Given the description of an element on the screen output the (x, y) to click on. 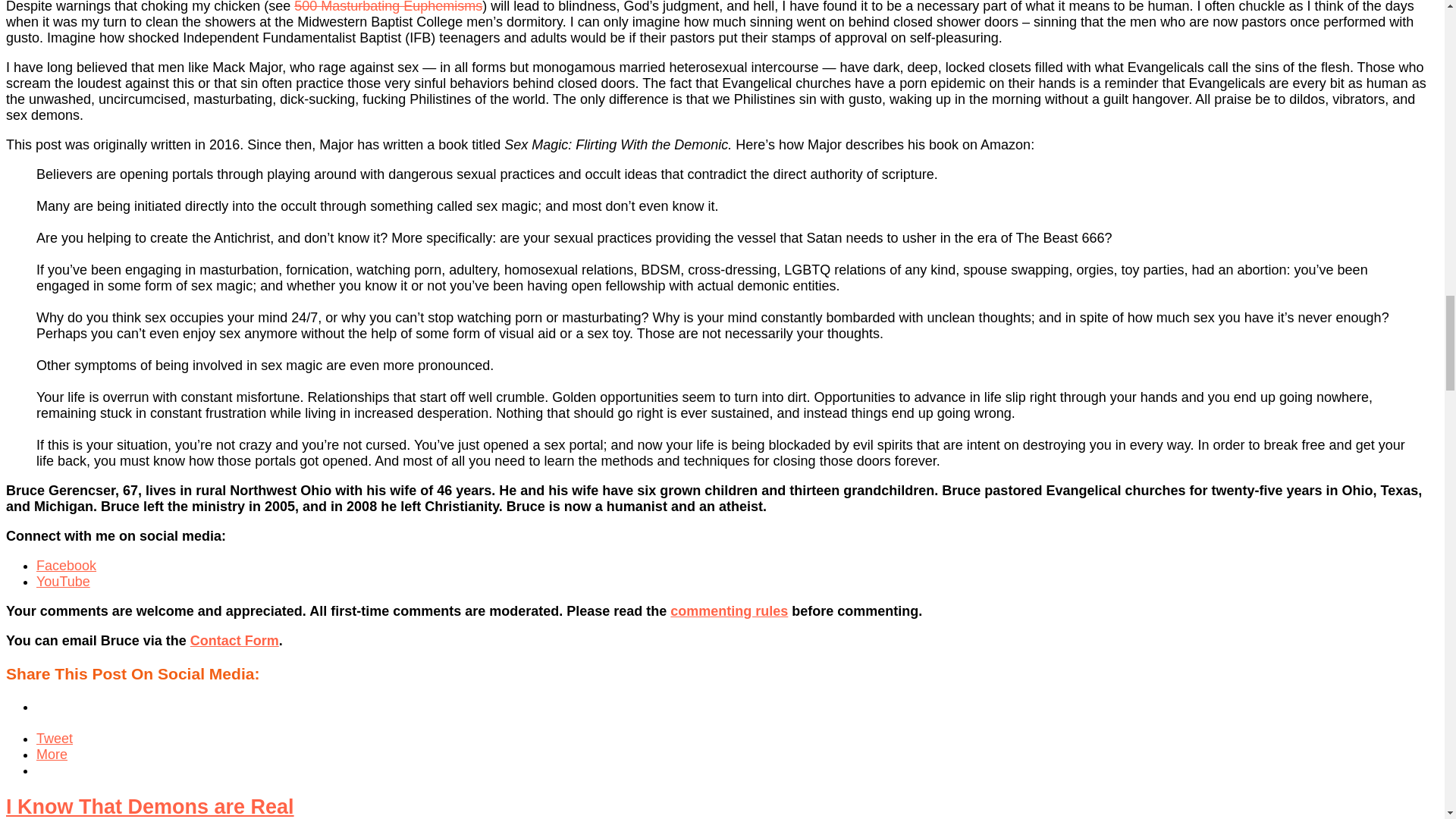
Facebook (66, 565)
I Know That Demons are Real (149, 806)
500 Masturbating Euphemisms (387, 6)
